Given the description of an element on the screen output the (x, y) to click on. 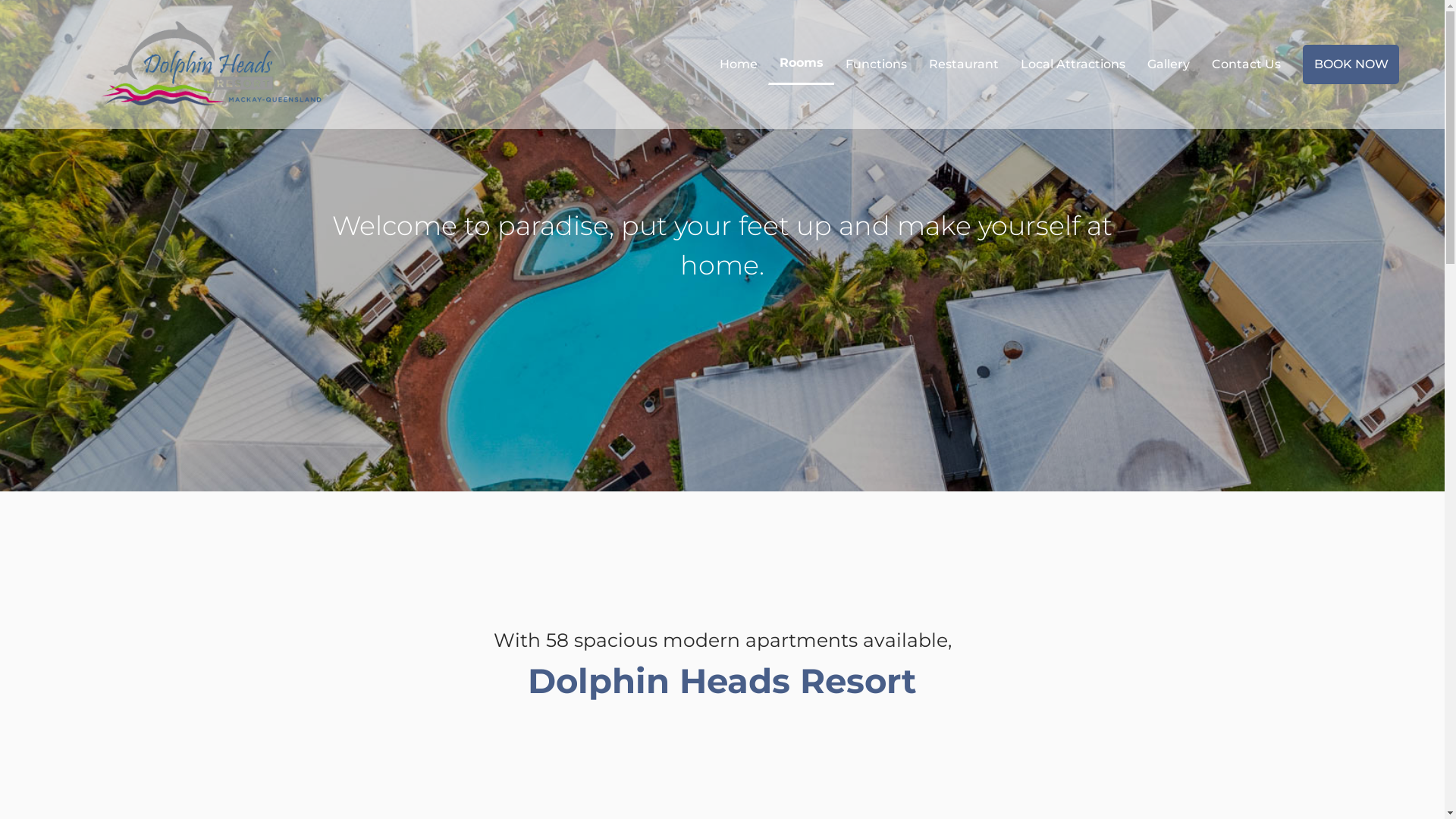
Functions Element type: text (875, 64)
Local Attractions Element type: text (1072, 64)
Rooms Element type: text (801, 62)
Home Element type: text (738, 64)
Contact Us Element type: text (1246, 64)
Dolphin-Heads-Resort-Transparent-Logo-Compressed Element type: hover (209, 64)
Gallery Element type: text (1168, 64)
BOOK NOW Element type: text (1351, 64)
Restaurant Element type: text (963, 64)
